Given the description of an element on the screen output the (x, y) to click on. 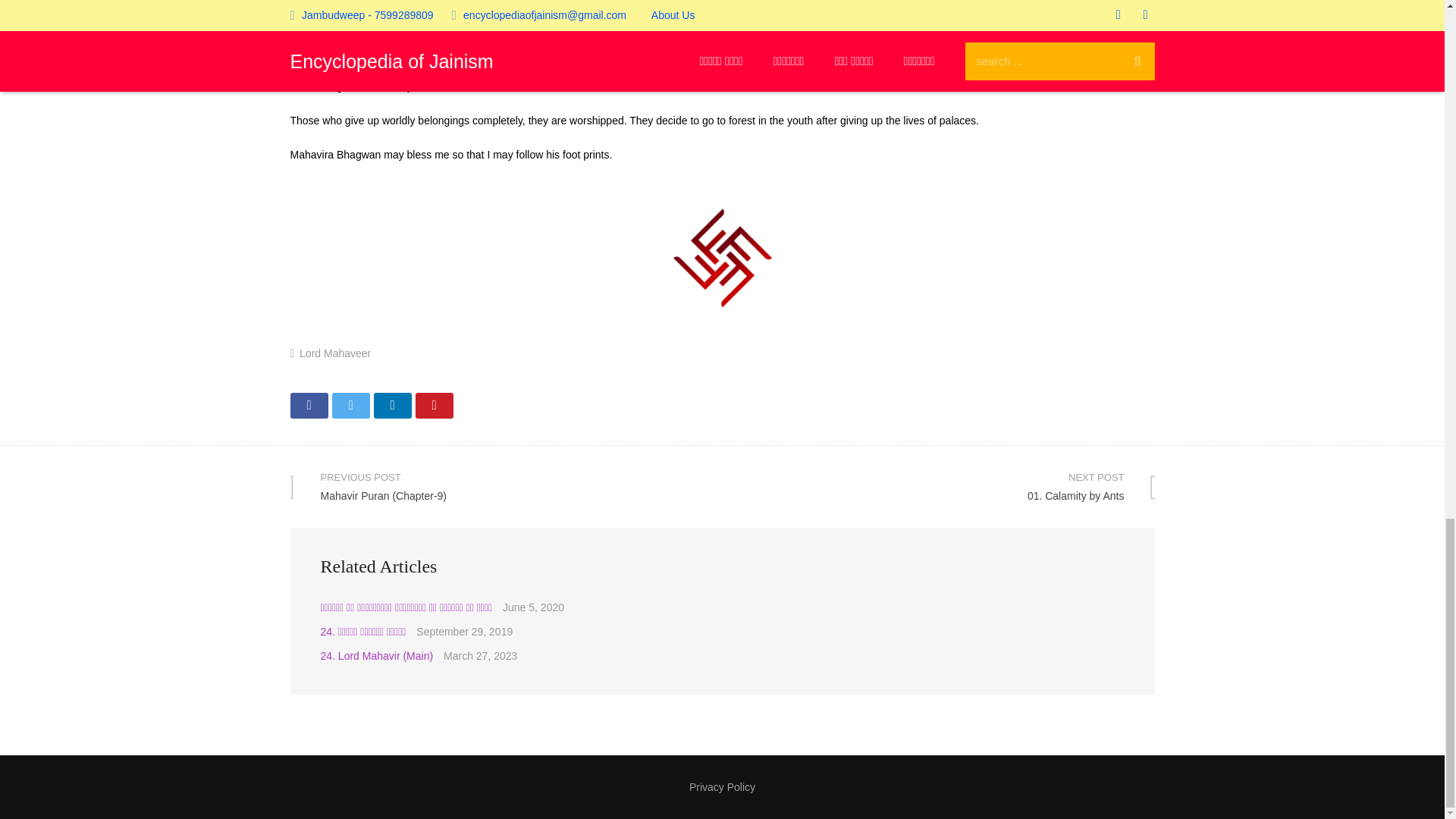
Lord Mahaveer (335, 353)
Pin this (433, 405)
Privacy Policy (938, 486)
Tweet this (721, 787)
Share this (350, 405)
Share this (391, 405)
